Given the description of an element on the screen output the (x, y) to click on. 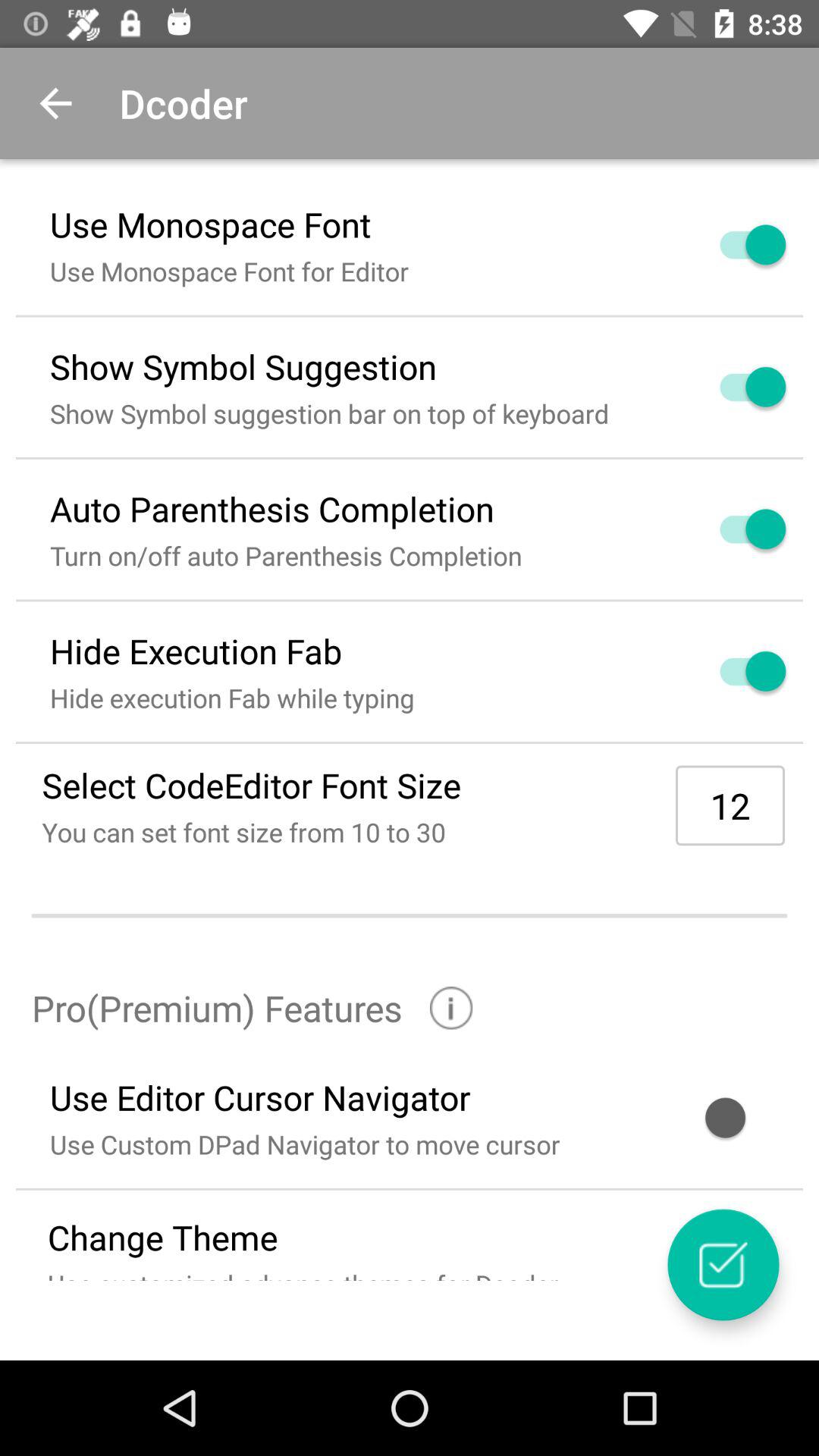
use monospace font is on (734, 244)
